Given the description of an element on the screen output the (x, y) to click on. 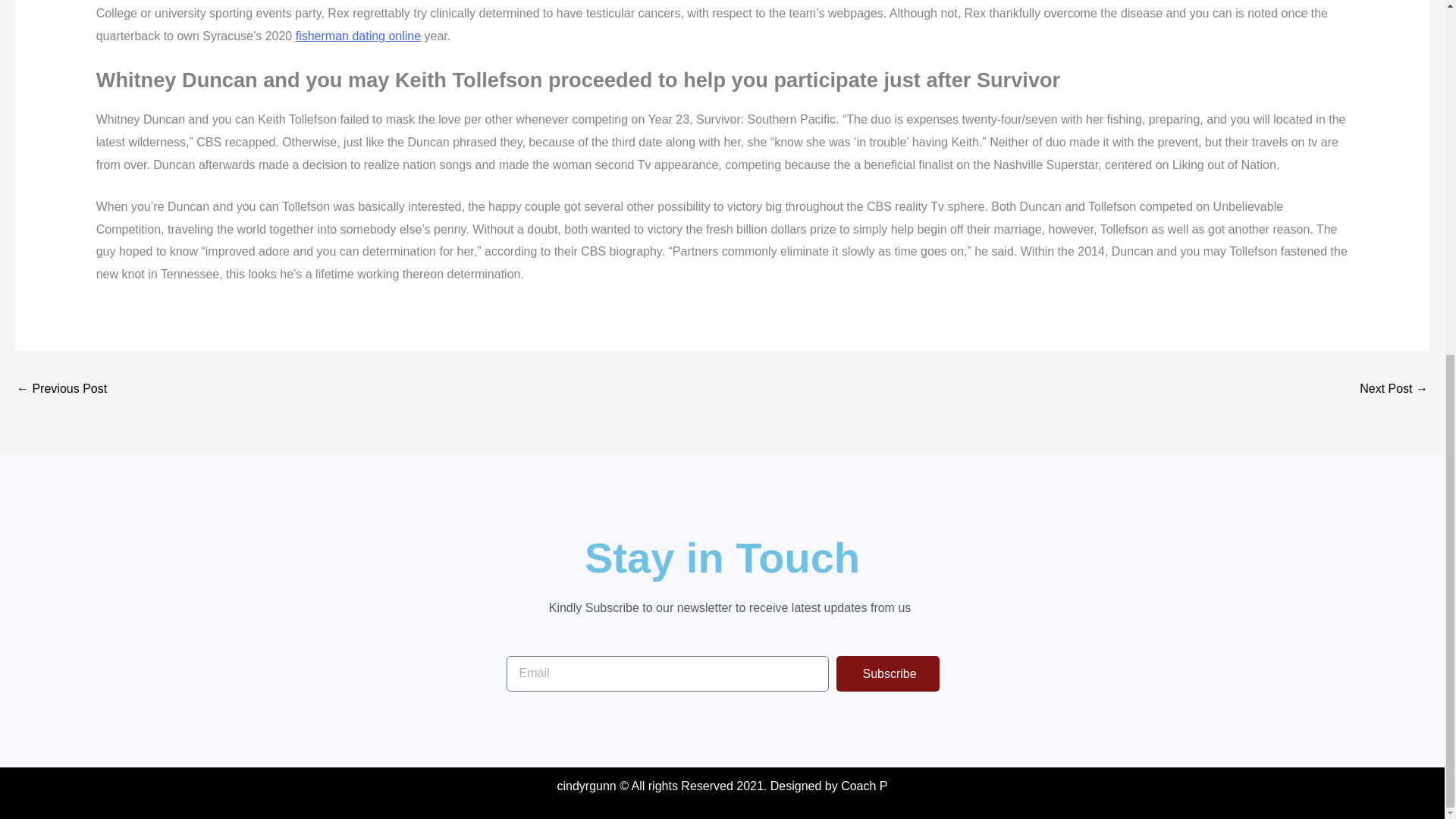
Ask AMY: Fb listings manage relationship issues (1393, 389)
Subscribe (887, 673)
fisherman dating online (357, 35)
